Given the description of an element on the screen output the (x, y) to click on. 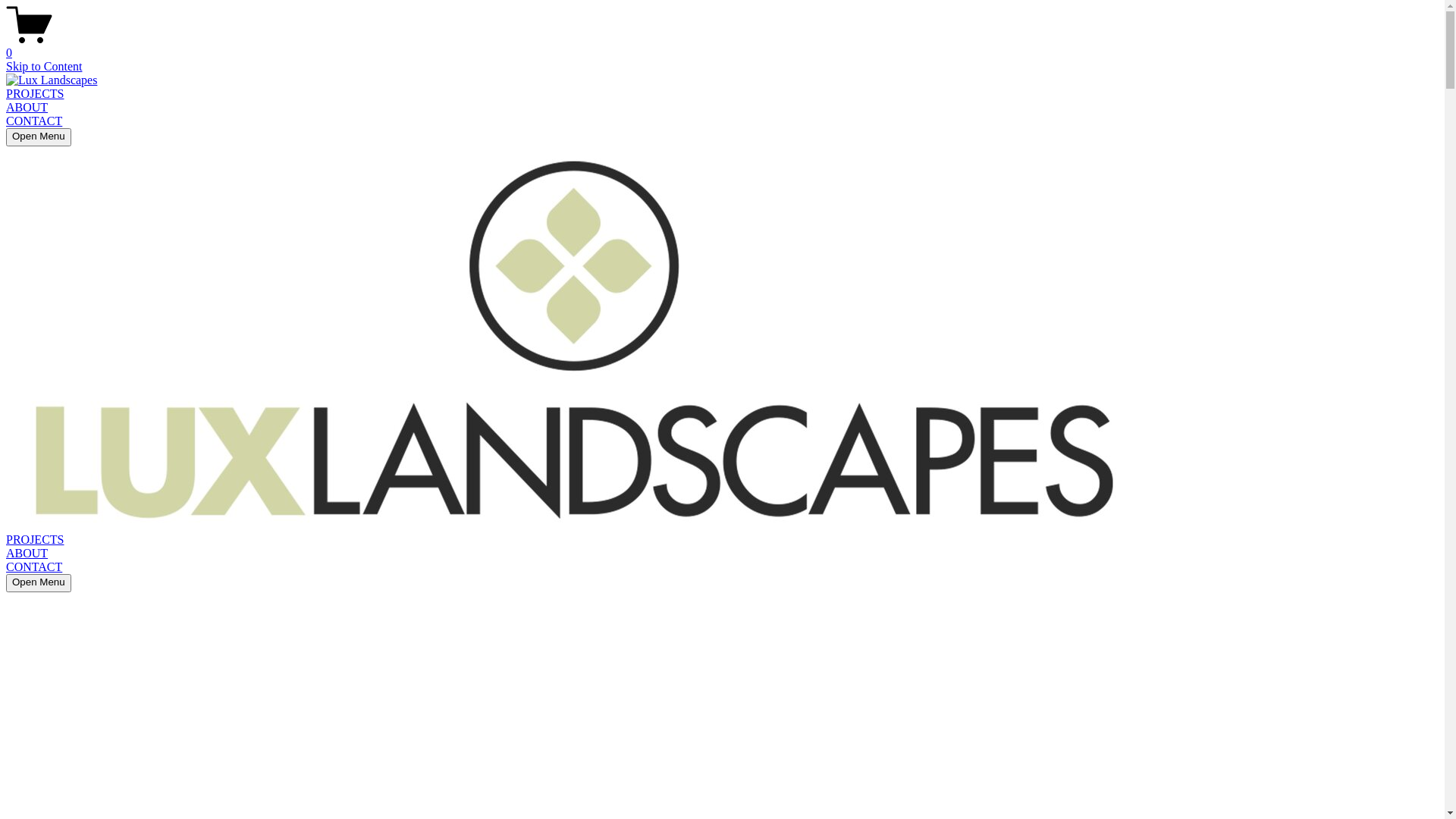
Skip to Content Element type: text (43, 65)
PROJECTS Element type: text (34, 539)
ABOUT Element type: text (26, 552)
CONTACT Element type: text (34, 120)
PROJECTS Element type: text (34, 93)
CONTACT Element type: text (34, 566)
Open Menu Element type: text (38, 137)
ABOUT Element type: text (26, 106)
Open Menu Element type: text (38, 583)
0 Element type: text (722, 45)
